Given the description of an element on the screen output the (x, y) to click on. 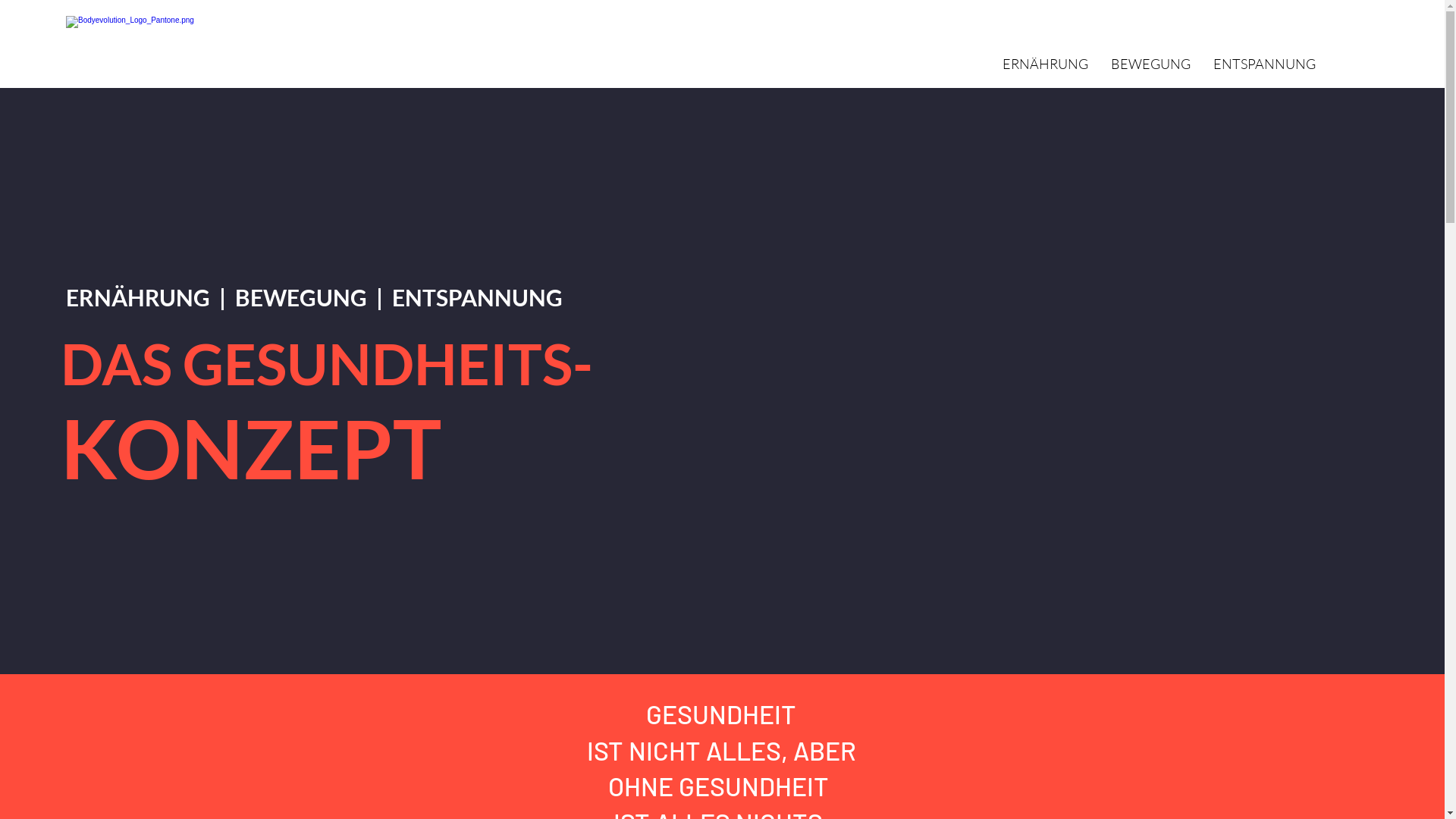
BEWEGUNG Element type: text (1150, 63)
ENTSPANNUNG Element type: text (1264, 63)
